Given the description of an element on the screen output the (x, y) to click on. 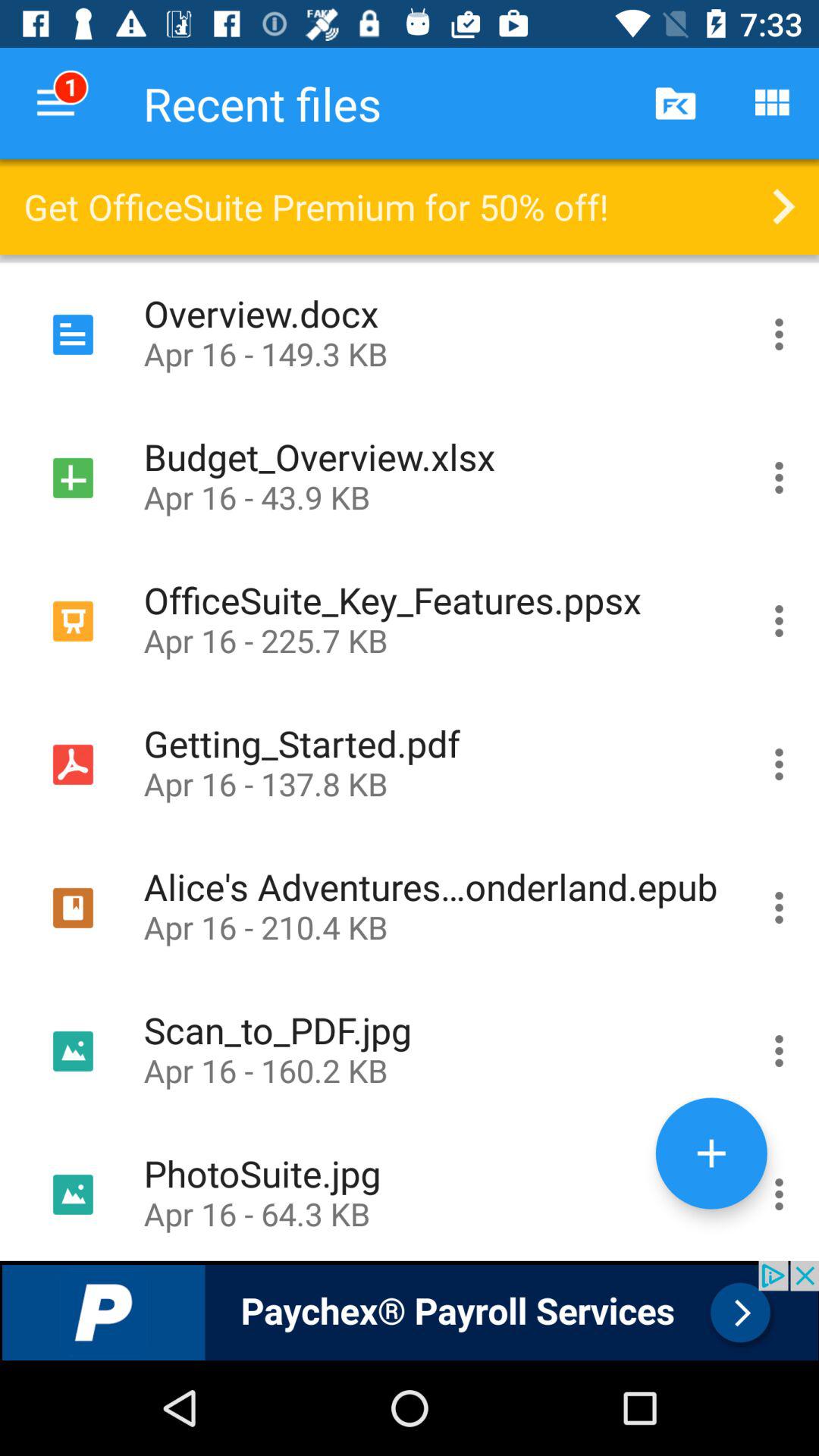
more (779, 477)
